Given the description of an element on the screen output the (x, y) to click on. 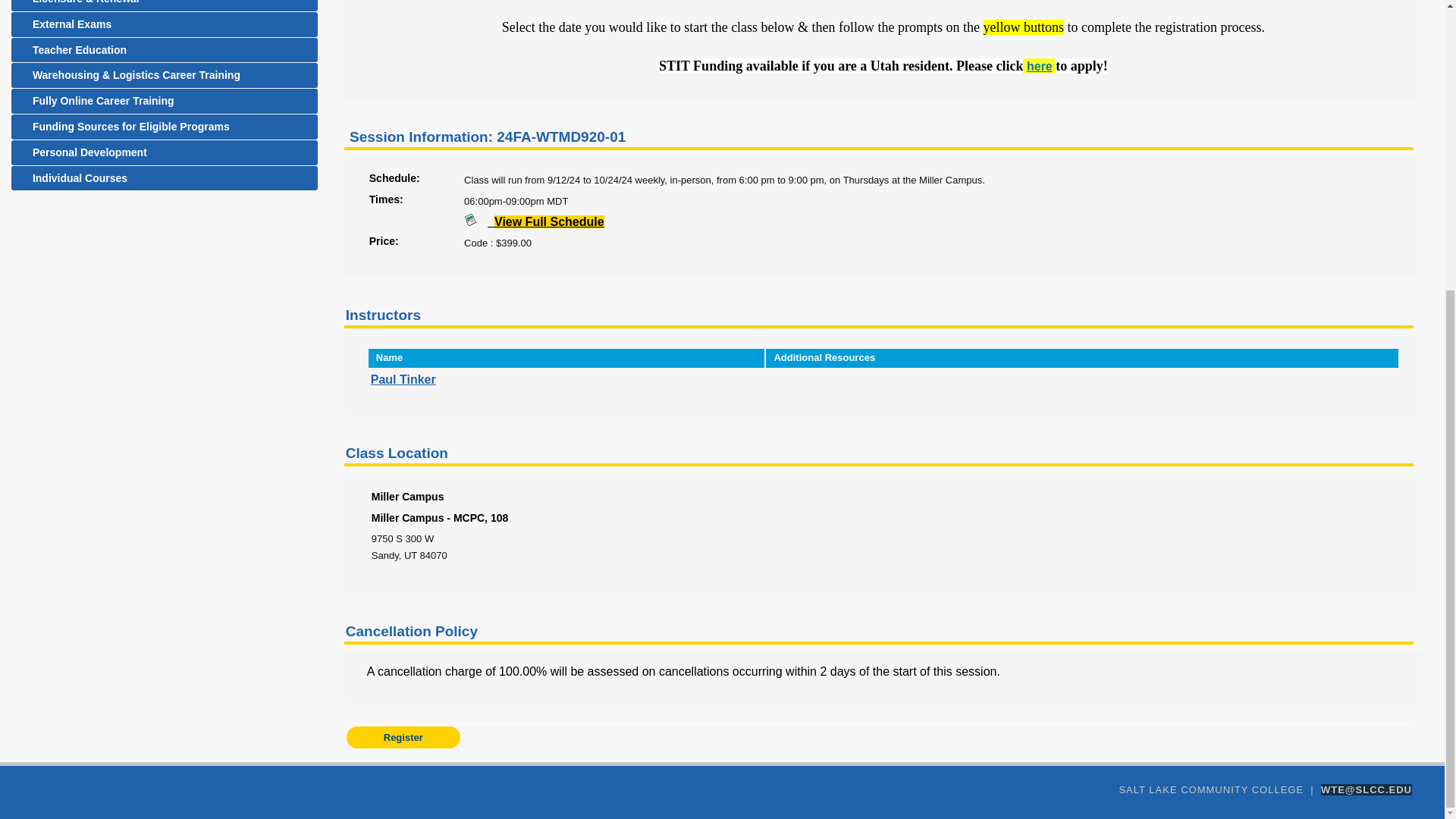
Paul Tinker (403, 379)
View Full Schedule (475, 221)
Personal Development (164, 152)
Fully Online Career Training (164, 100)
Register (403, 737)
Teacher Education (164, 50)
here (1039, 65)
Funding Sources for Eligible Programs (164, 126)
External Exams (164, 24)
Register (403, 737)
Individual Courses (164, 178)
  View Full Schedule (545, 221)
